Given the description of an element on the screen output the (x, y) to click on. 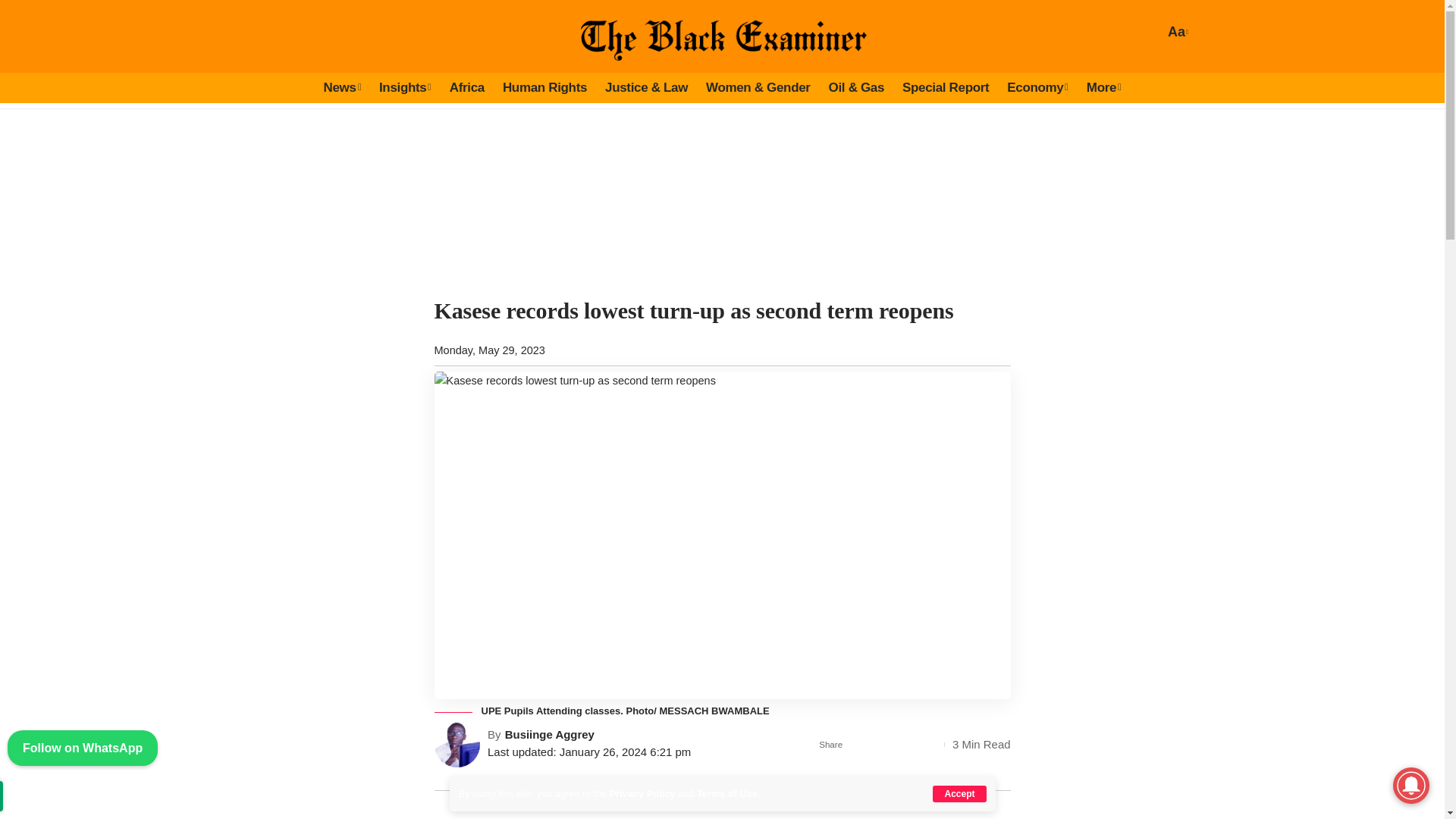
Terms of Use (727, 793)
Privacy Policy (642, 793)
Accept (959, 793)
The Black Examiner (656, 33)
News (1175, 31)
Kasese records lowest turn-up as second term reopens (341, 87)
